Given the description of an element on the screen output the (x, y) to click on. 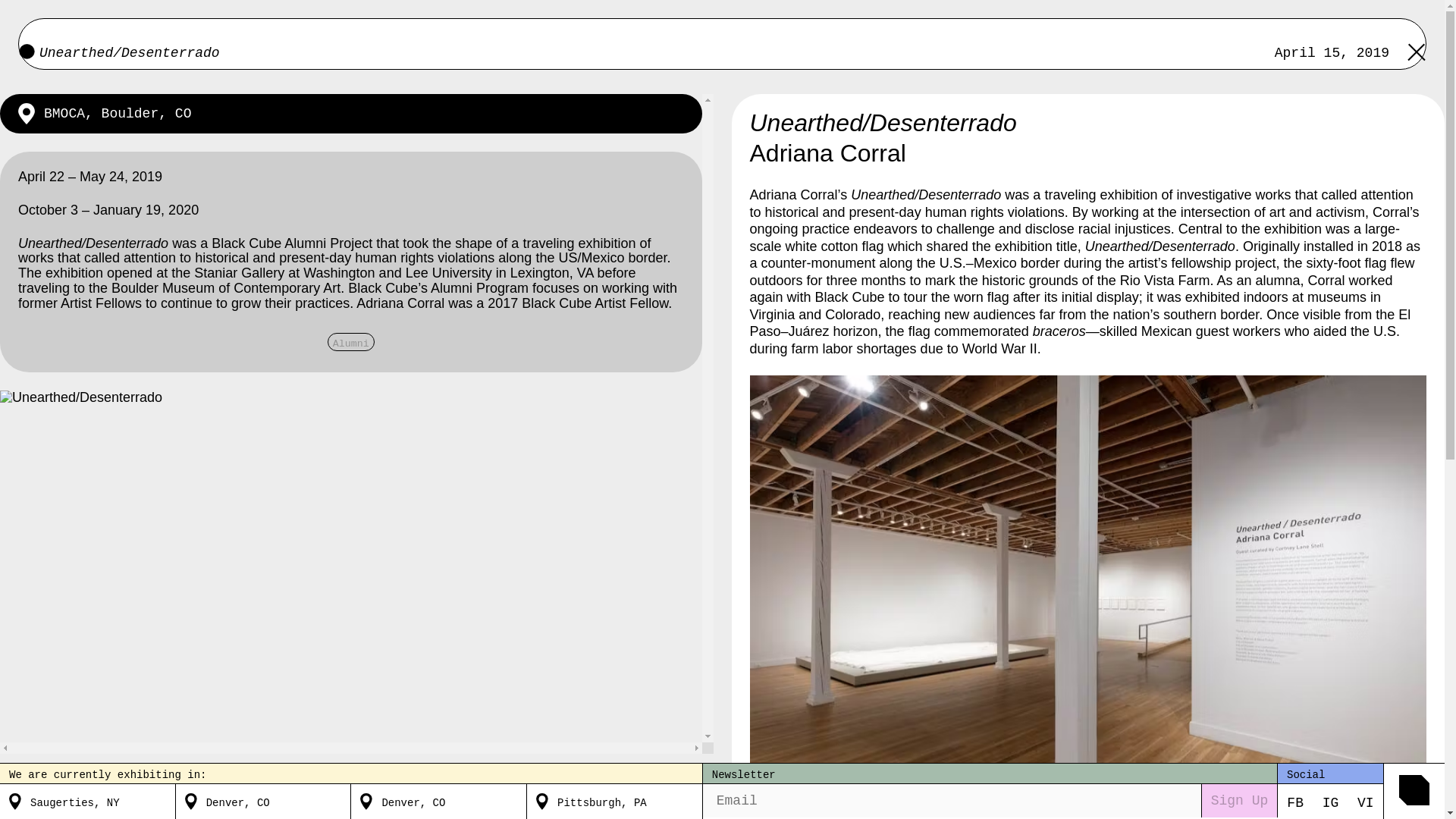
VI (1365, 802)
FB (1295, 802)
IG (1330, 802)
Denver, CO (237, 801)
Alumni (350, 341)
Pittsburgh, PA (601, 801)
Saugerties, NY (74, 801)
Sign Up (1238, 800)
Denver, CO (413, 801)
